Given the description of an element on the screen output the (x, y) to click on. 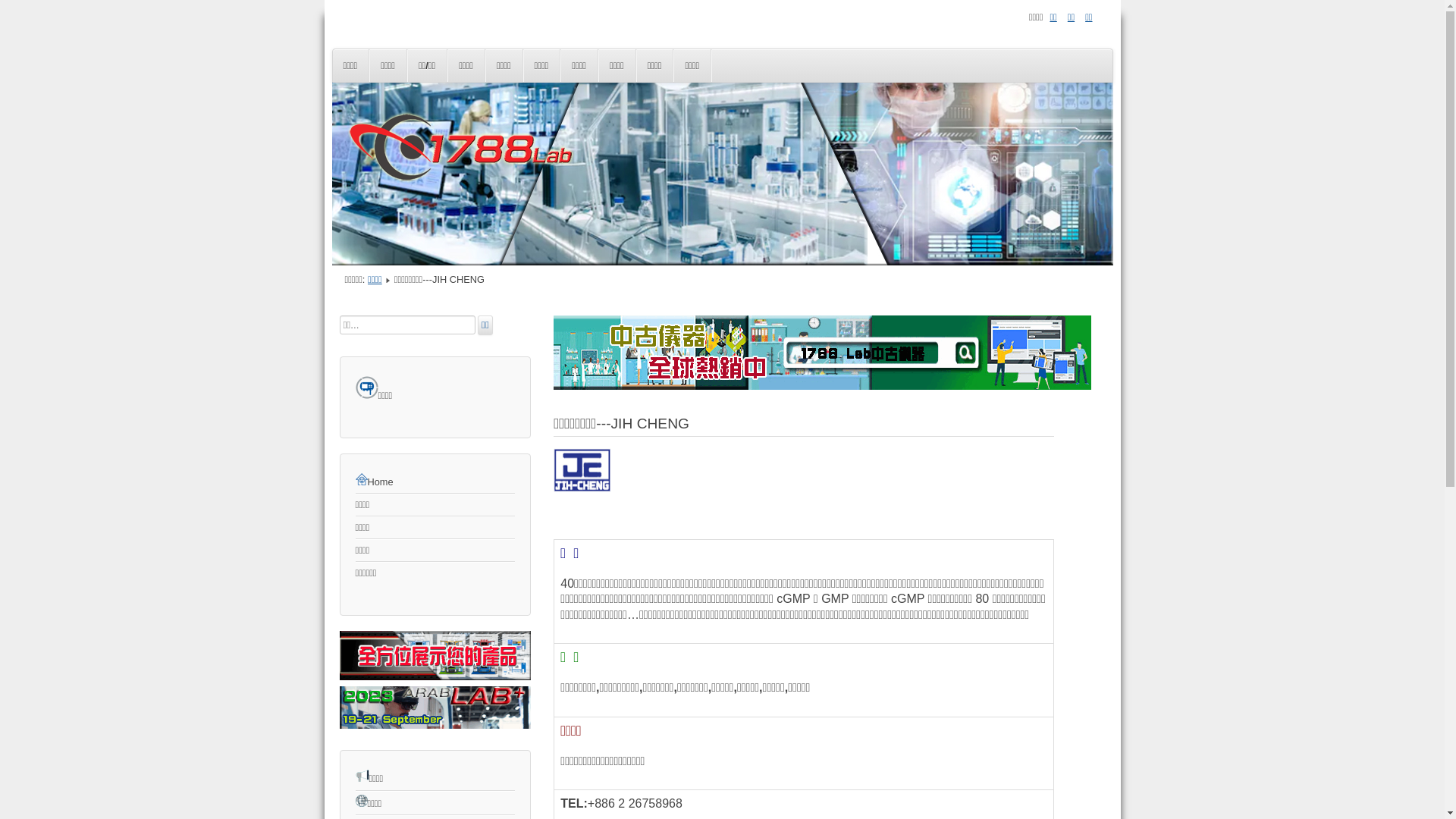
HOME-L Element type: hover (435, 676)
HOME-T Element type: hover (822, 386)
HOME-L1 Element type: hover (435, 725)
Home Element type: text (434, 481)
